Given the description of an element on the screen output the (x, y) to click on. 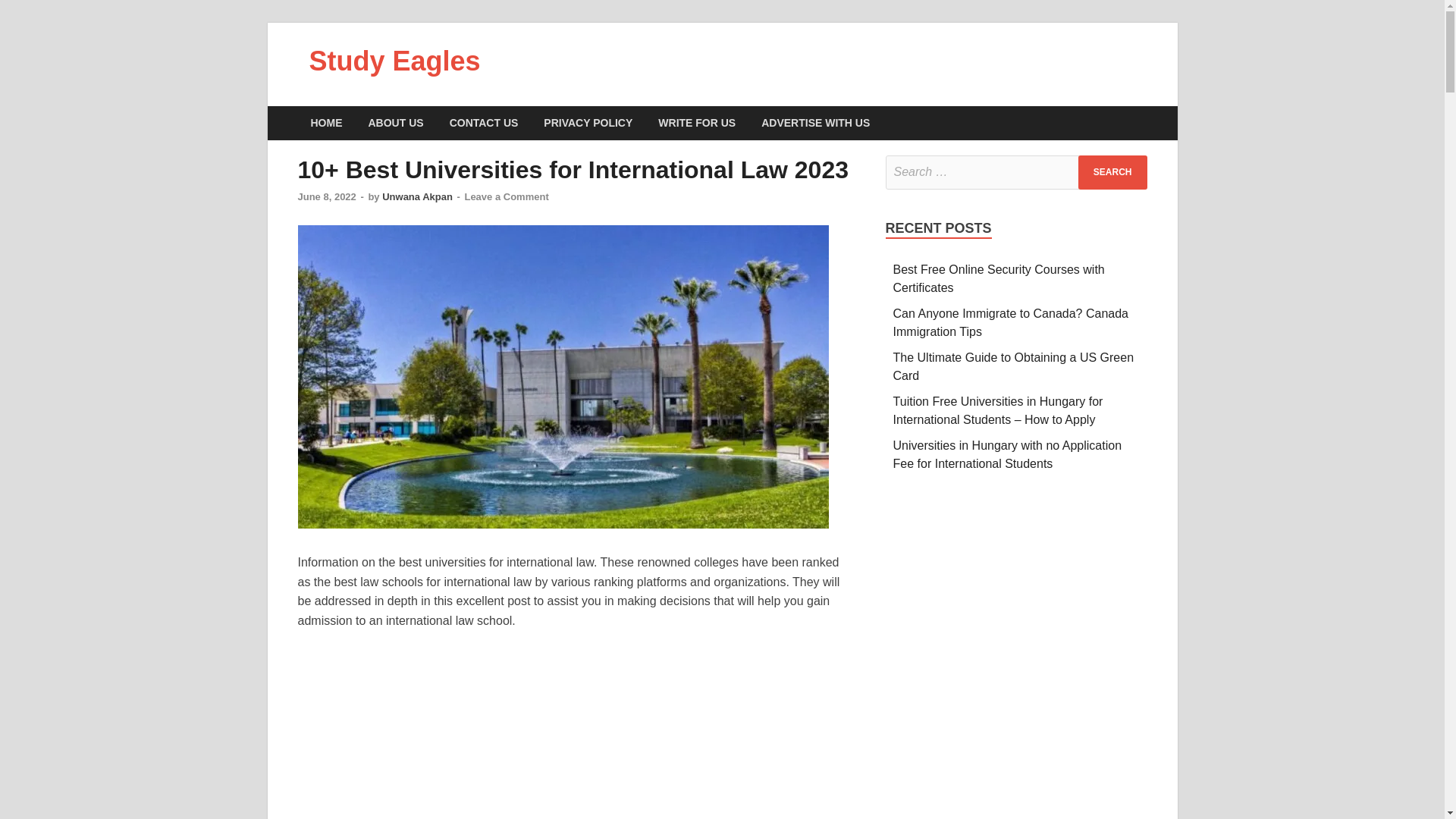
Unwana Akpan (416, 196)
The Ultimate Guide to Obtaining a US Green Card (1013, 366)
HOME (326, 123)
PRIVACY POLICY (588, 123)
WRITE FOR US (696, 123)
Leave a Comment (506, 196)
Search (1112, 172)
ADVERTISE WITH US (815, 123)
Study Eagles (394, 60)
